Given the description of an element on the screen output the (x, y) to click on. 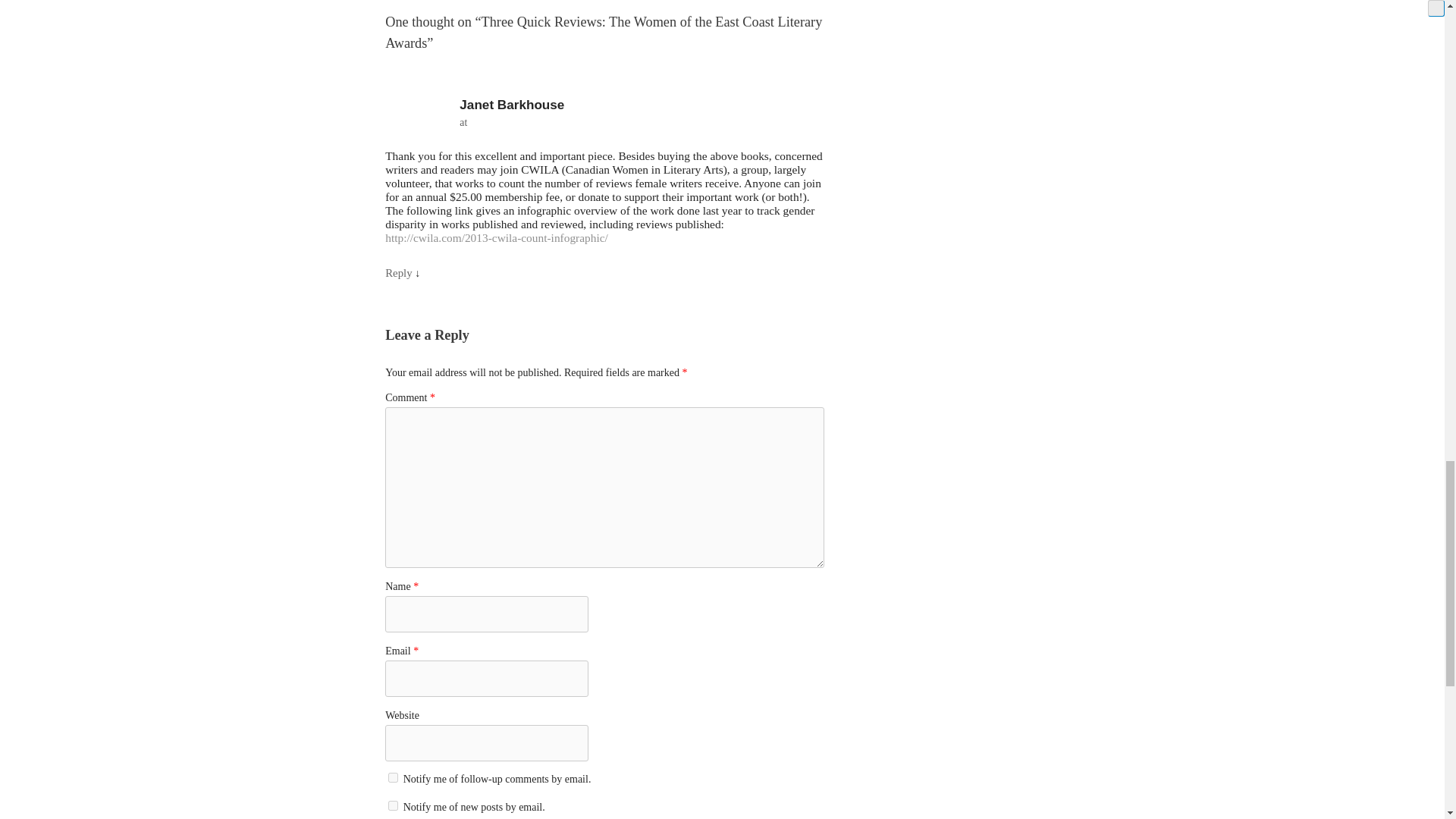
subscribe (392, 777)
subscribe (392, 805)
Reply (398, 272)
at (604, 122)
